Given the description of an element on the screen output the (x, y) to click on. 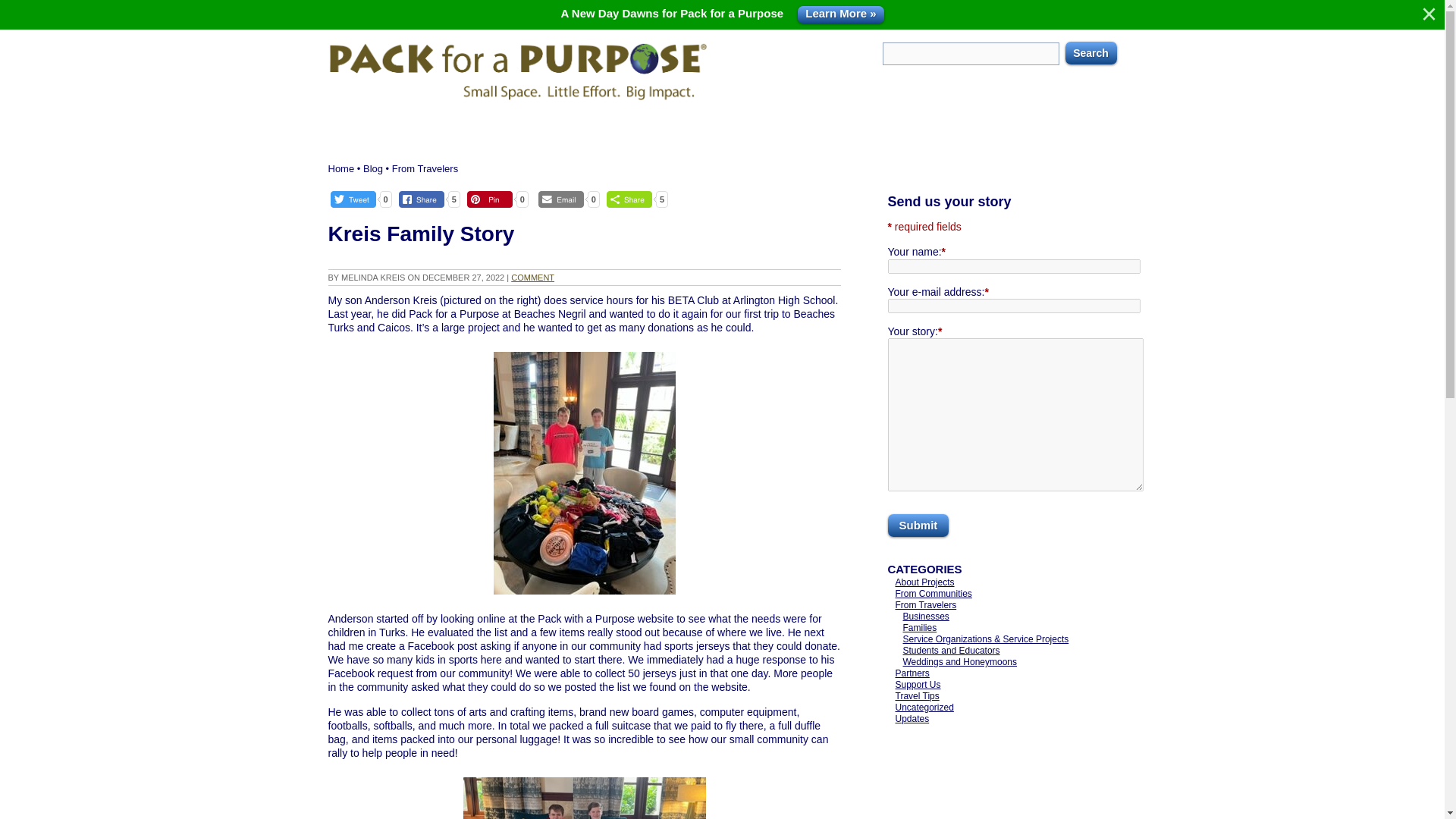
About Us (370, 127)
FAQ (1066, 127)
Facebook (1001, 83)
YouTube (1053, 83)
Search (1090, 52)
How to Participate (485, 127)
Initiatives (755, 127)
LinkedIn (1078, 83)
Home (340, 168)
Instagram (1027, 83)
